Given the description of an element on the screen output the (x, y) to click on. 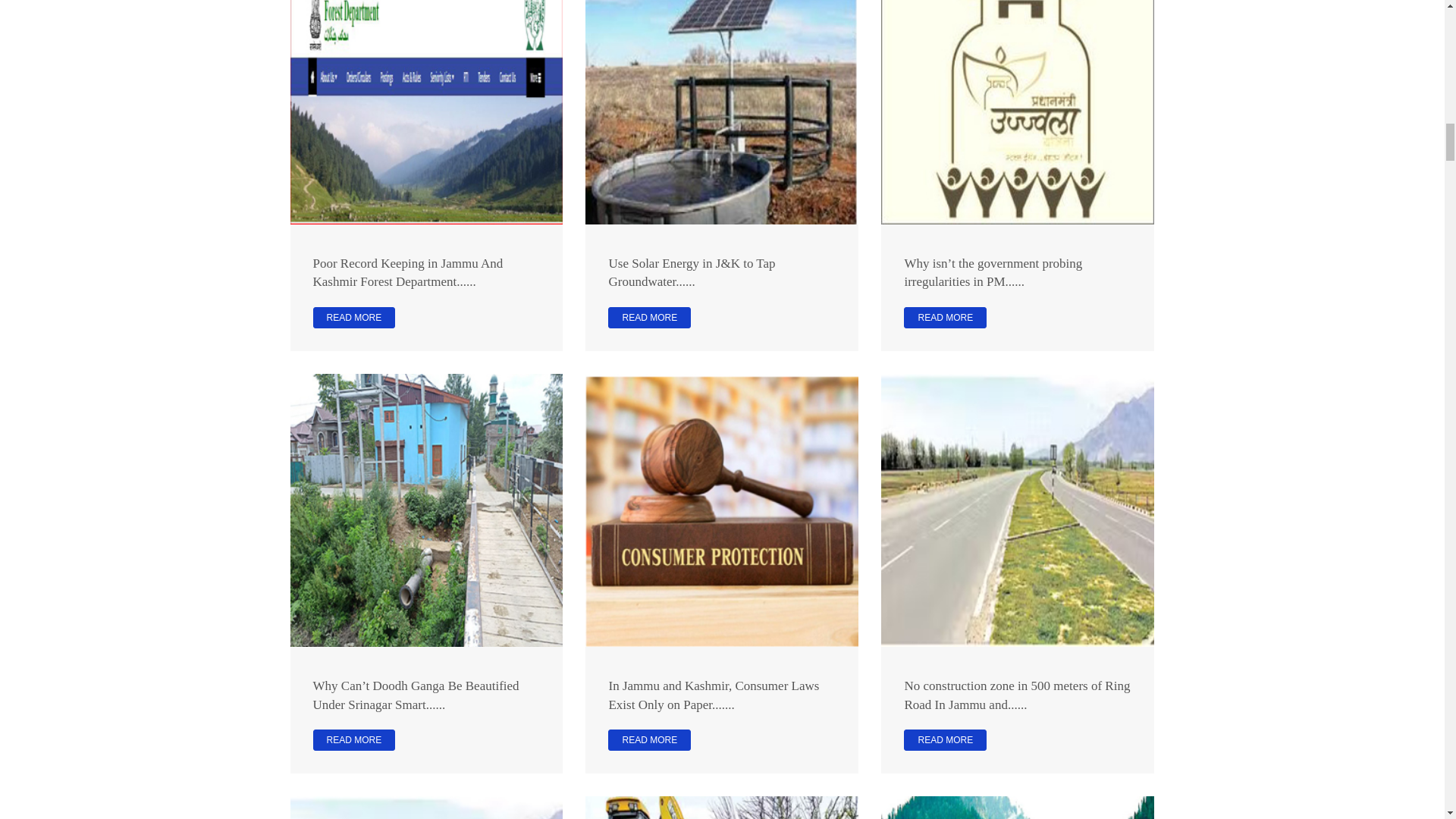
READ MORE (649, 740)
READ MORE (353, 740)
READ MORE (353, 318)
READ MORE (649, 318)
READ MORE (945, 740)
READ MORE (945, 318)
